Given the description of an element on the screen output the (x, y) to click on. 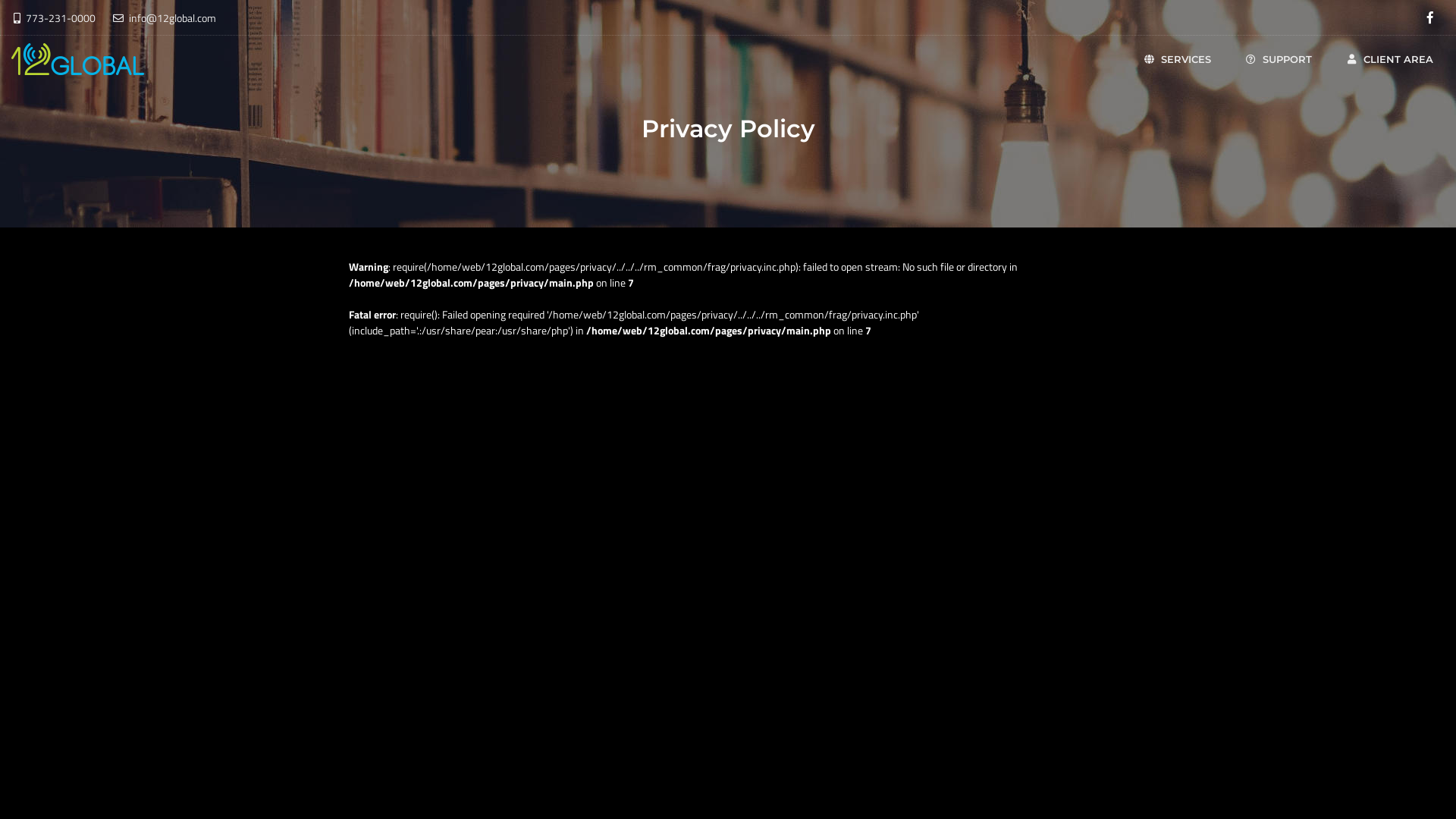
773-231-0000 Element type: text (54, 17)
CLIENT AREA Element type: text (1389, 59)
info@12global.com Element type: text (164, 17)
SERVICES Element type: text (1176, 59)
SUPPORT Element type: text (1277, 59)
